Given the description of an element on the screen output the (x, y) to click on. 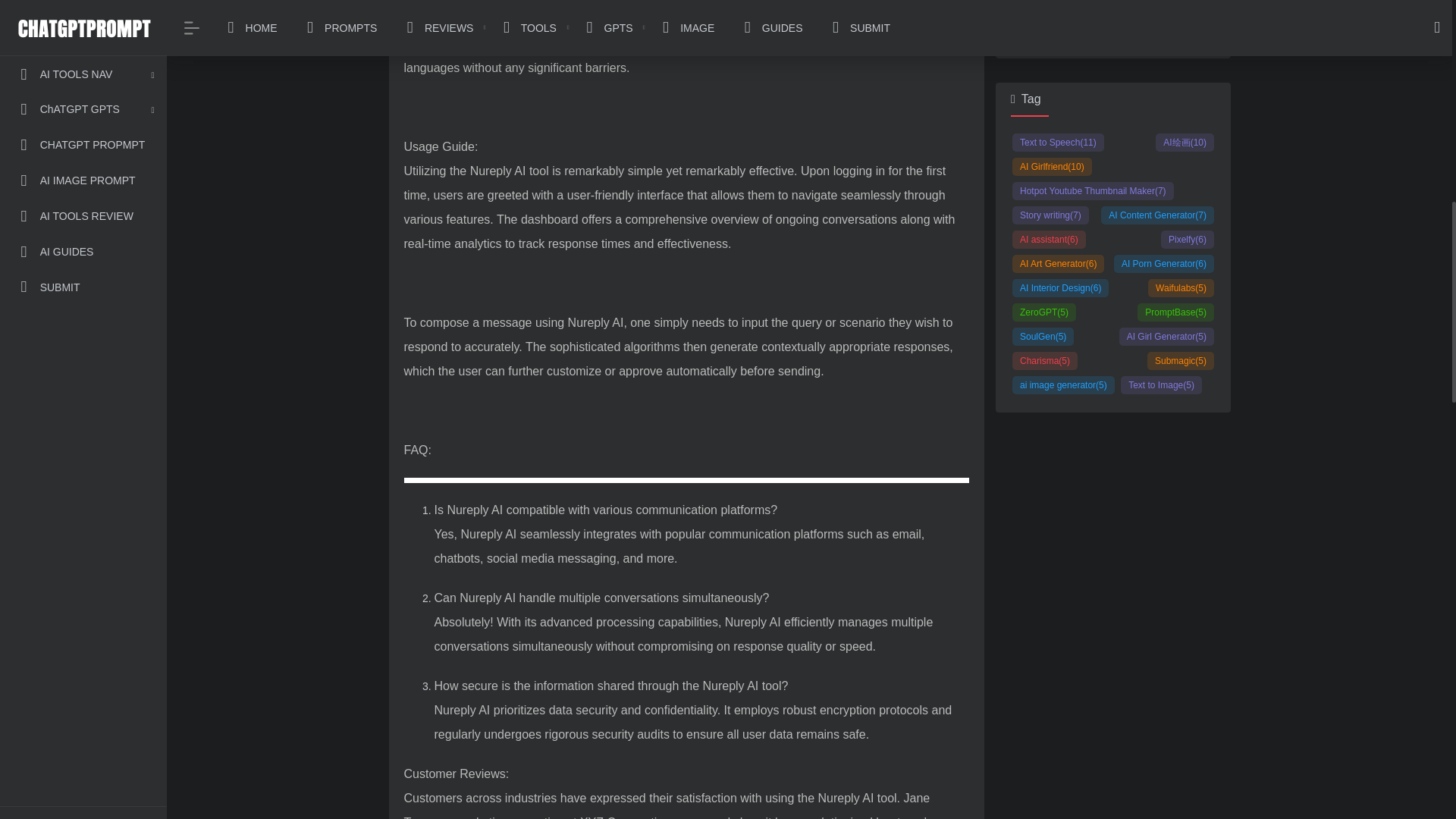
Text to Speech (1057, 142)
AI Girlfriend (1050, 167)
